Given the description of an element on the screen output the (x, y) to click on. 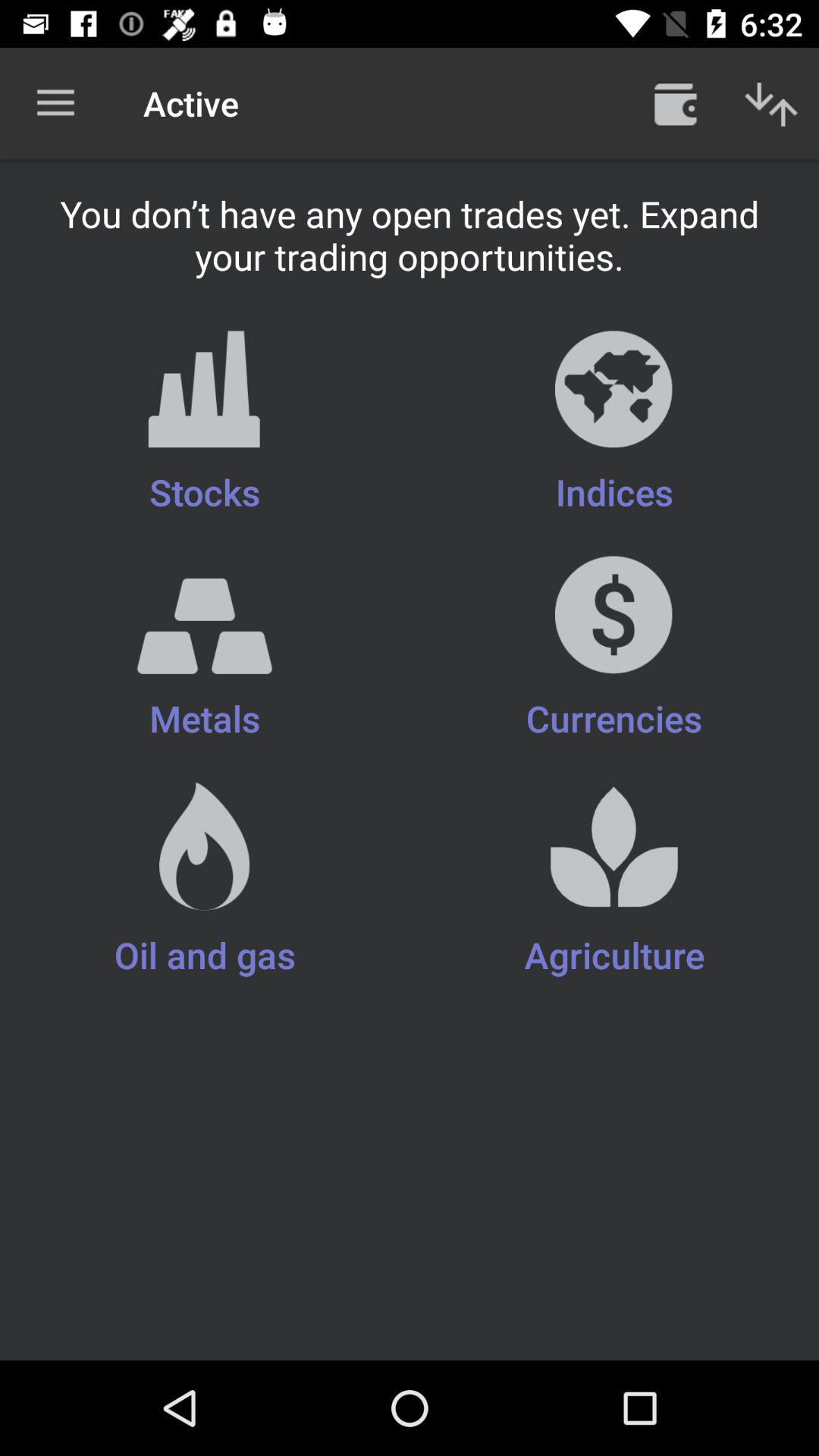
turn on the app to the right of active app (675, 103)
